Given the description of an element on the screen output the (x, y) to click on. 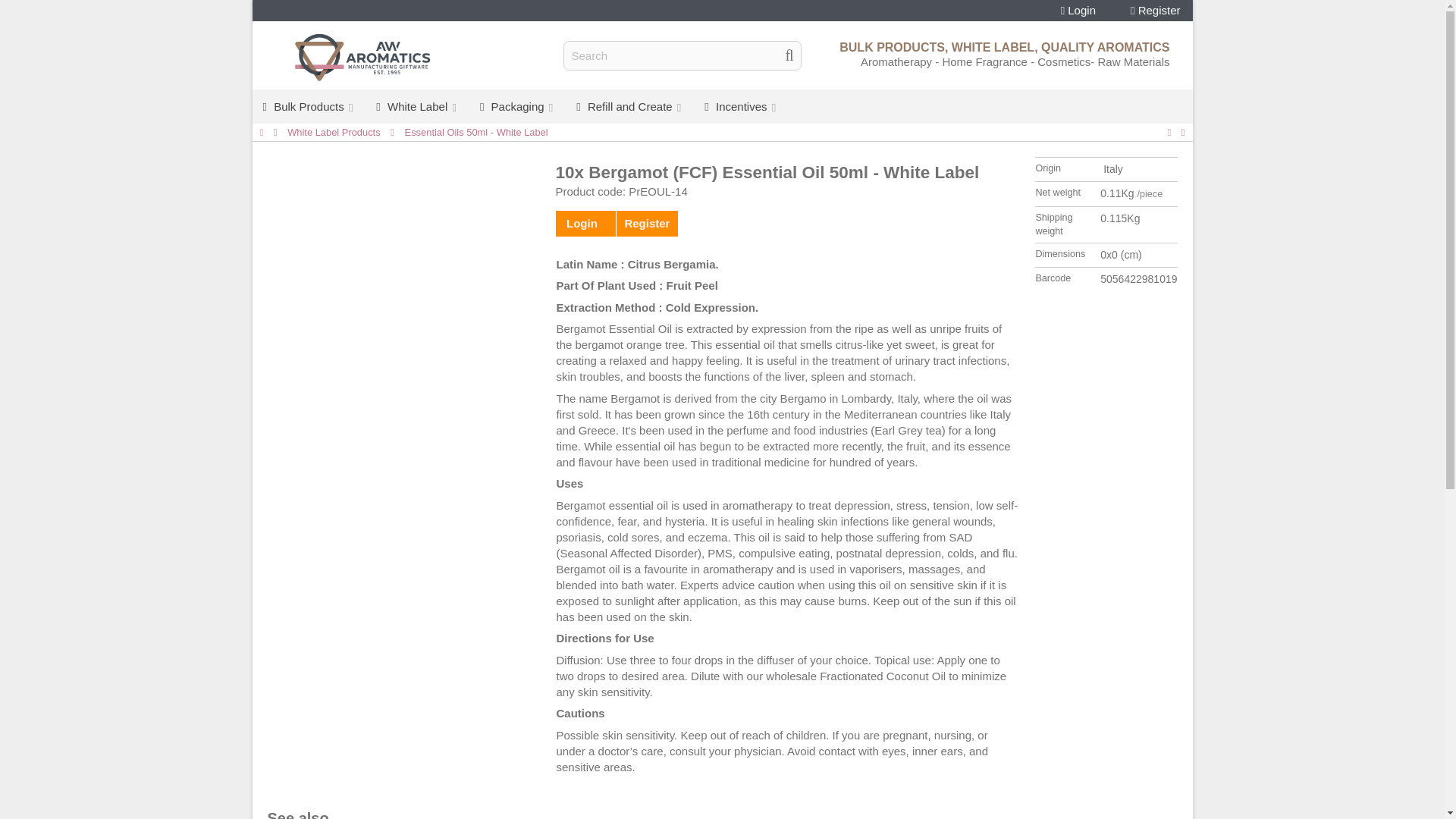
Register (1155, 10)
White Label (416, 106)
Refill and Create (630, 106)
Incentives (741, 106)
Bulk Products (308, 106)
Packaging (517, 106)
Login (1078, 10)
